Given the description of an element on the screen output the (x, y) to click on. 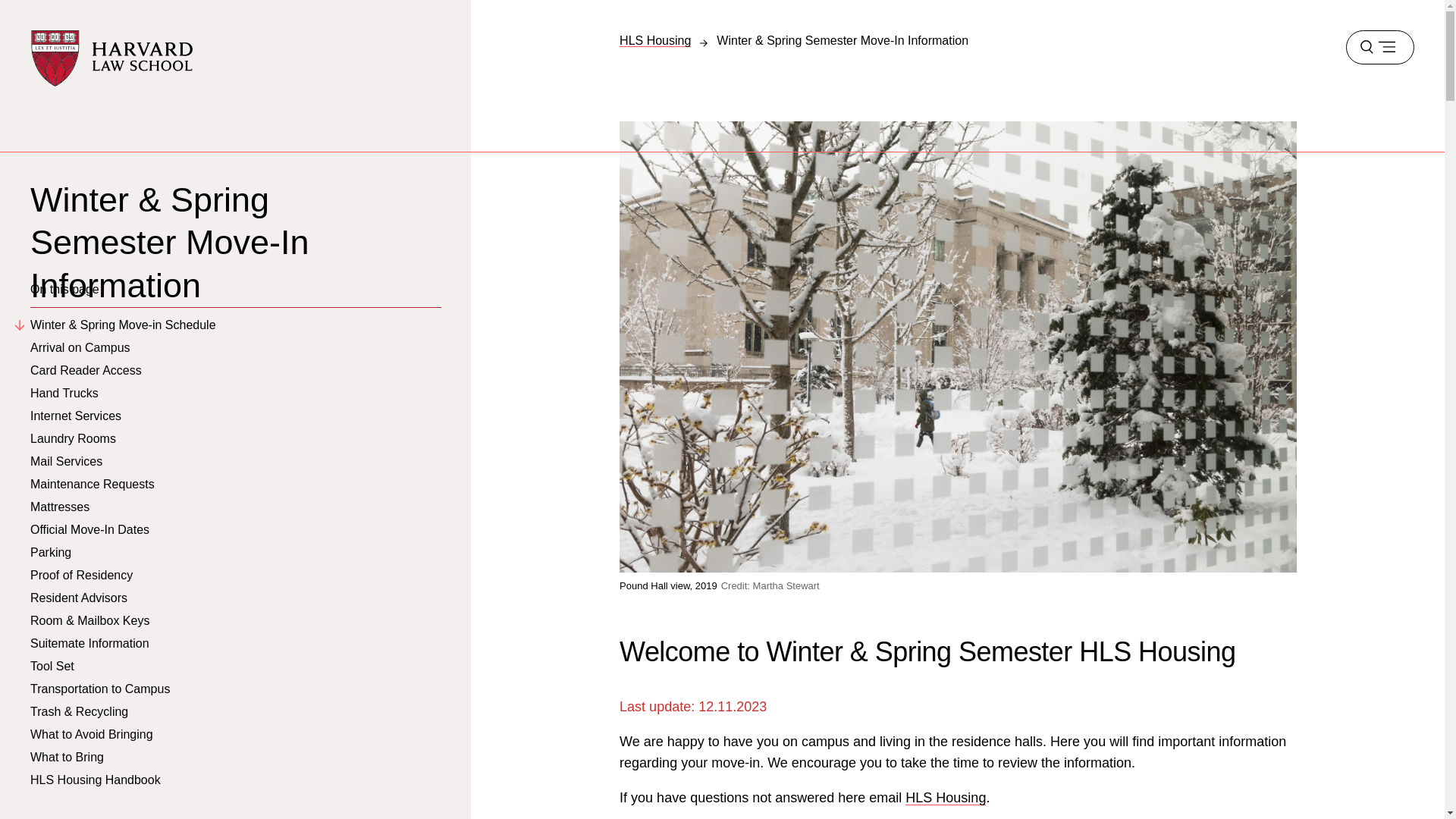
HLS Housing (655, 39)
Harvard Law School (111, 58)
Open menu (1379, 47)
